Given the description of an element on the screen output the (x, y) to click on. 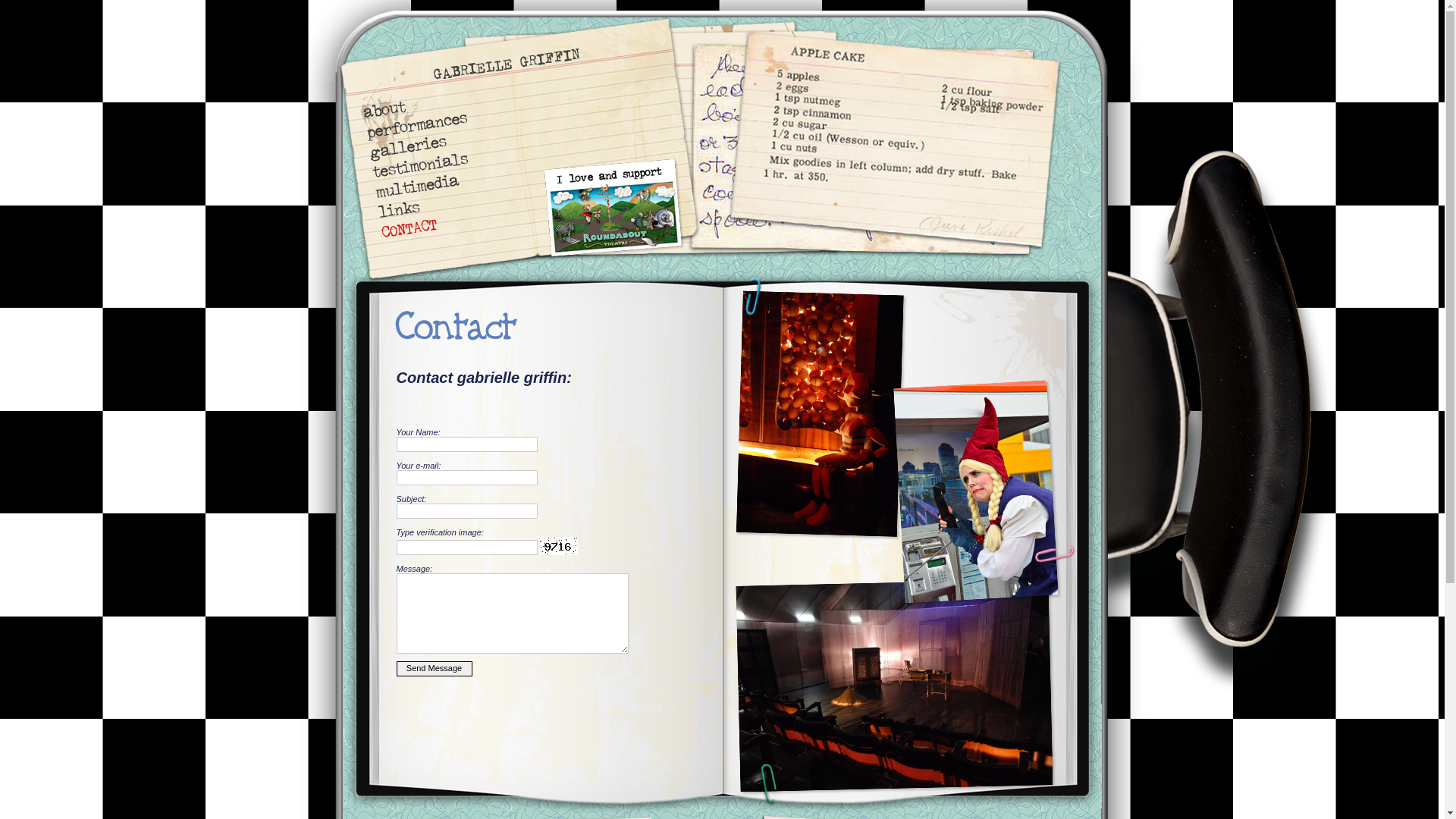
Send Message Element type: text (433, 668)
Contact Element type: hover (544, 329)
